Given the description of an element on the screen output the (x, y) to click on. 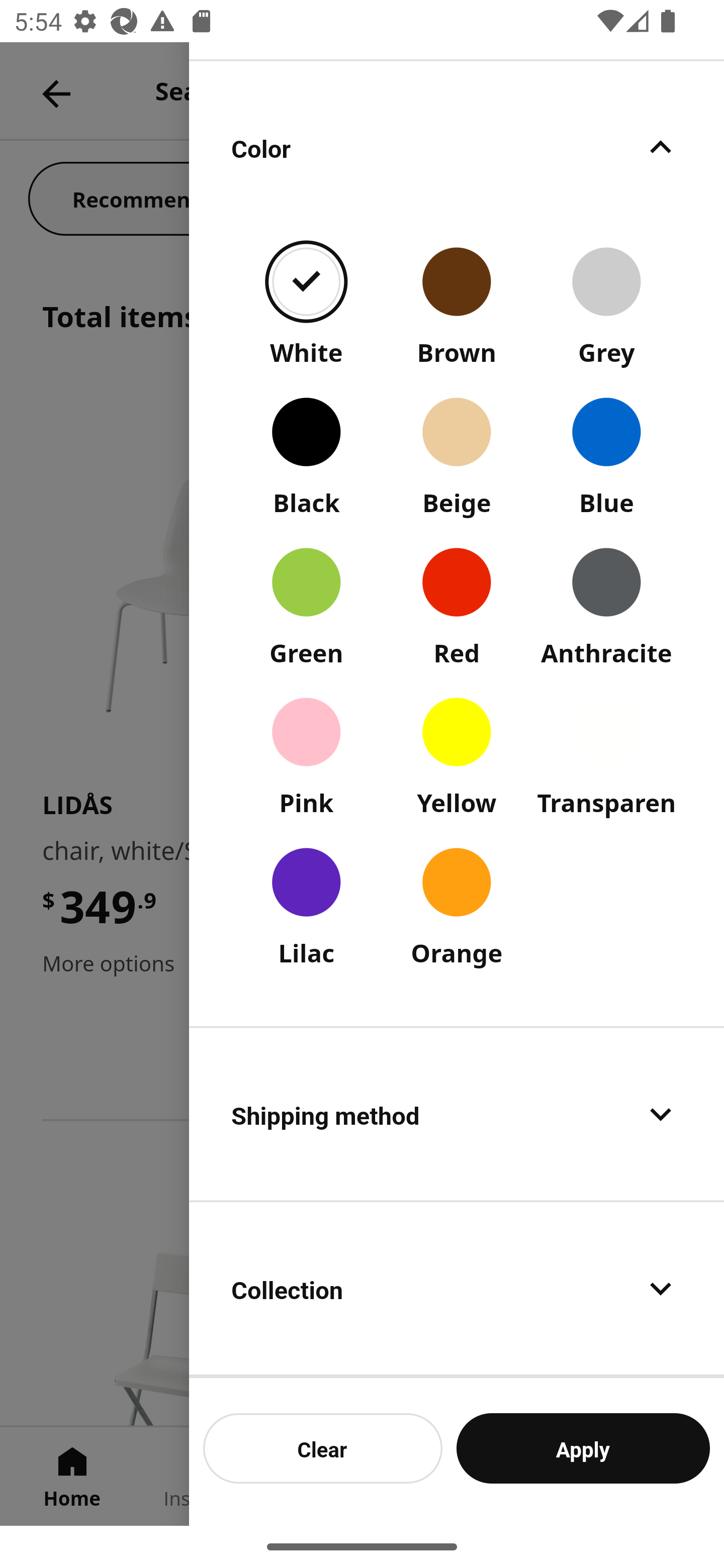
Color (456, 147)
Shipping method (456, 1113)
Collection (456, 1288)
Clear (322, 1447)
Apply (583, 1447)
